Given the description of an element on the screen output the (x, y) to click on. 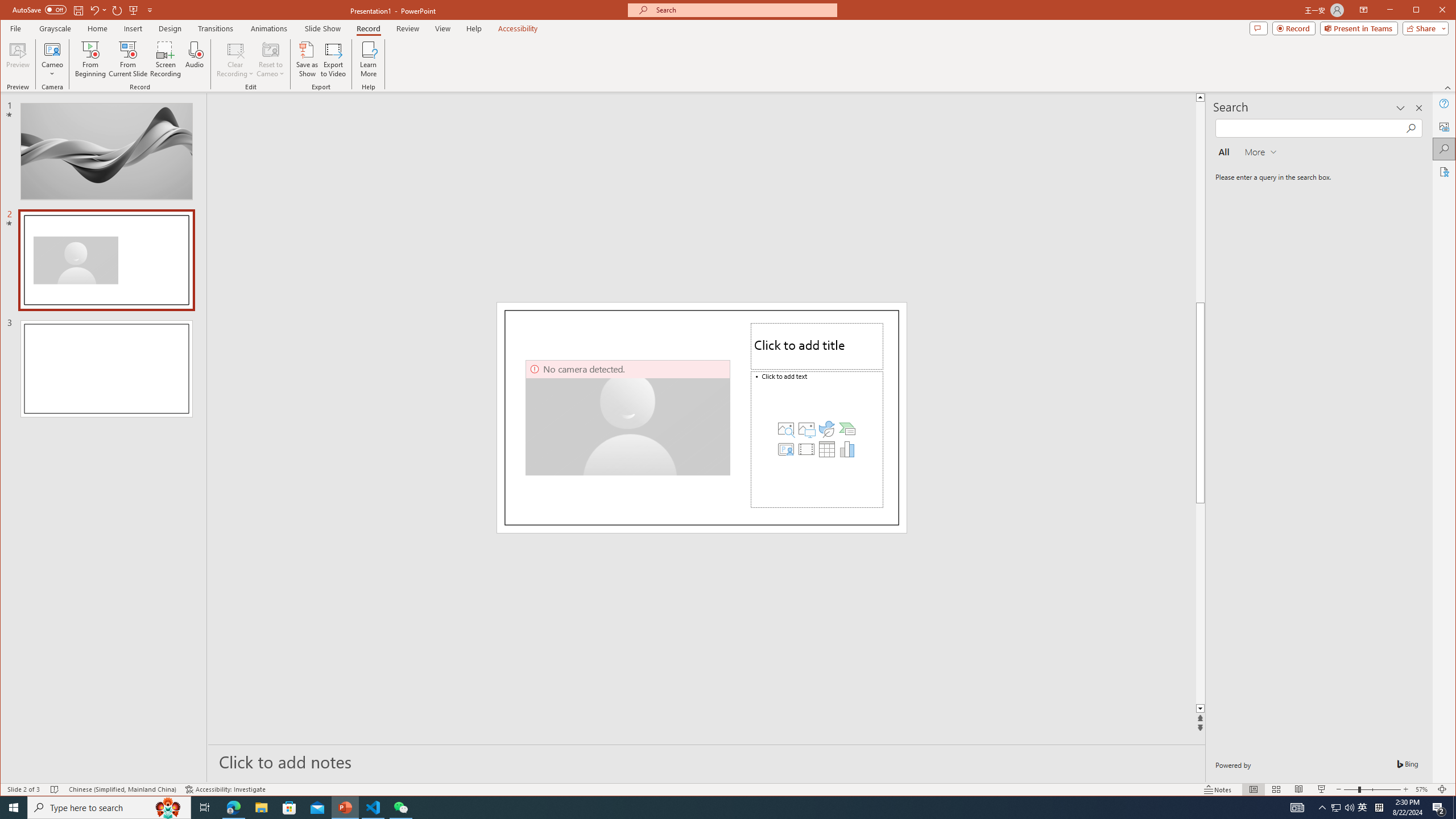
Save as Show (307, 59)
Zoom 57% (1422, 789)
Insert Cameo (785, 449)
Insert Chart (847, 449)
